Given the description of an element on the screen output the (x, y) to click on. 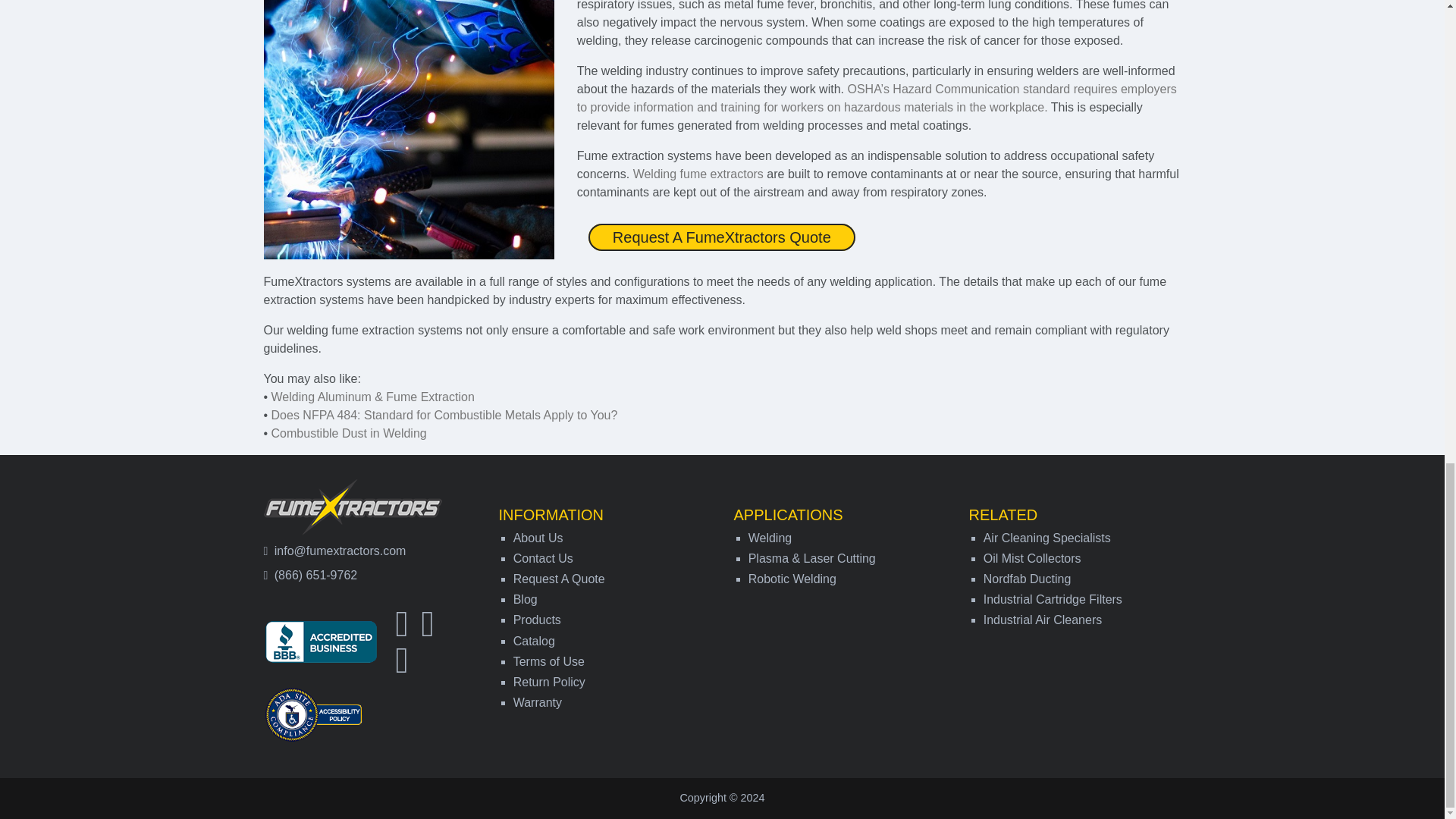
Combustible Dust in Welding (348, 432)
Request A FumeXtractors Quote (722, 236)
Welding fume extractors (697, 173)
Does NFPA 484: Standard for Combustible Metals Apply to You? (443, 414)
